Given the description of an element on the screen output the (x, y) to click on. 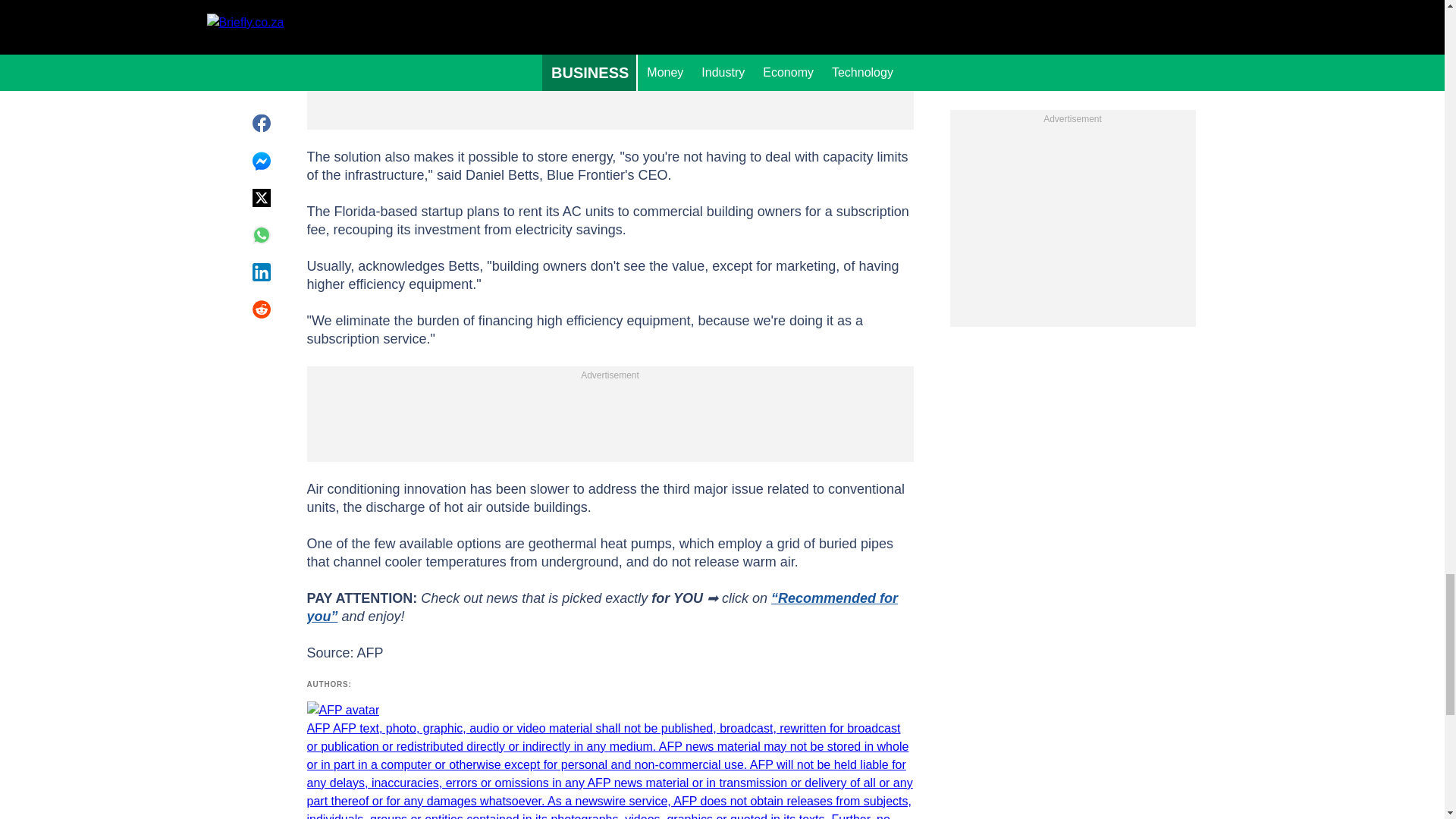
Author page (608, 760)
